Given the description of an element on the screen output the (x, y) to click on. 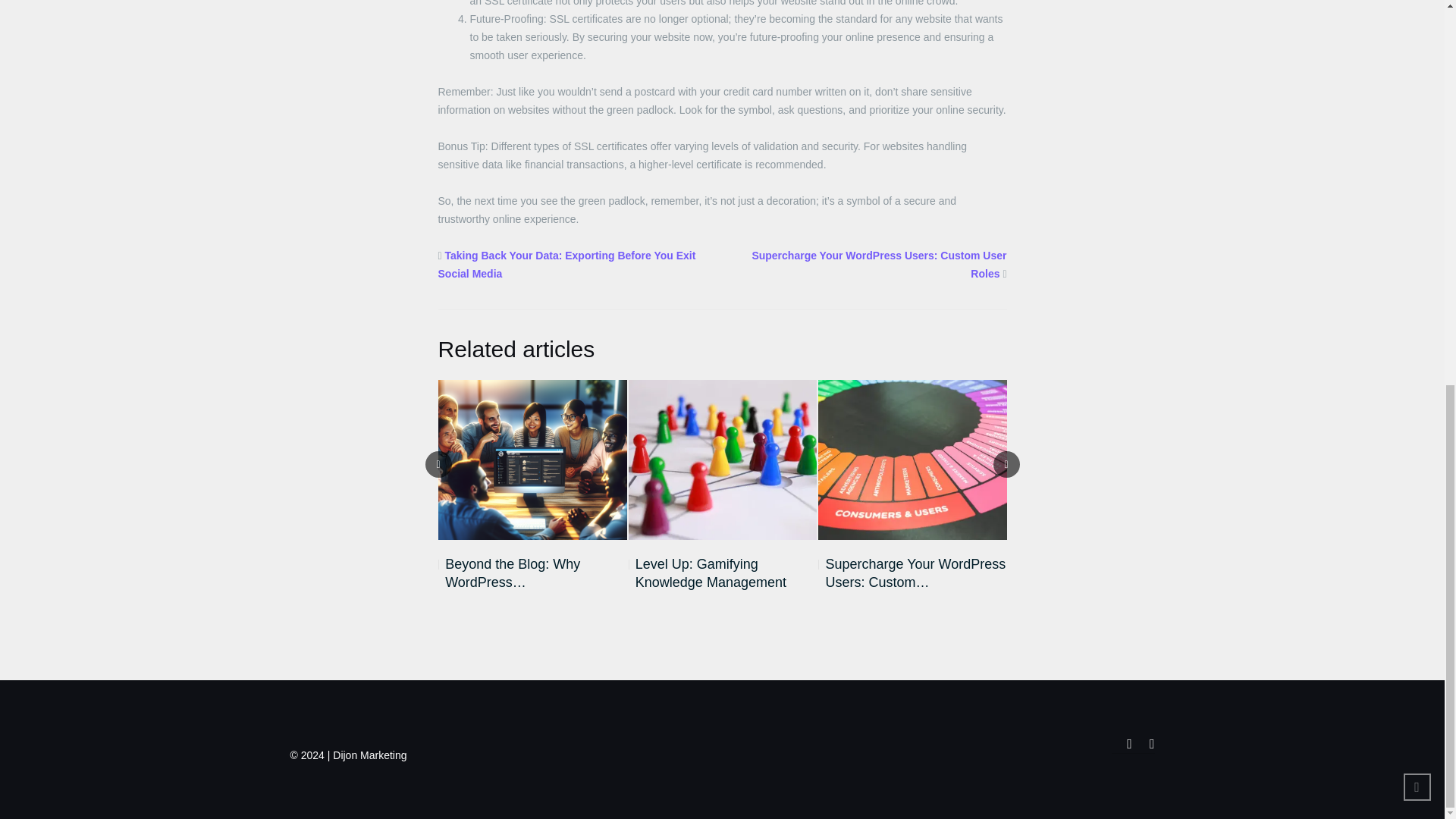
Level Up: Gamifying Knowledge Management (722, 573)
Supercharge Your WordPress Users: Custom User Roles (878, 264)
